Given the description of an element on the screen output the (x, y) to click on. 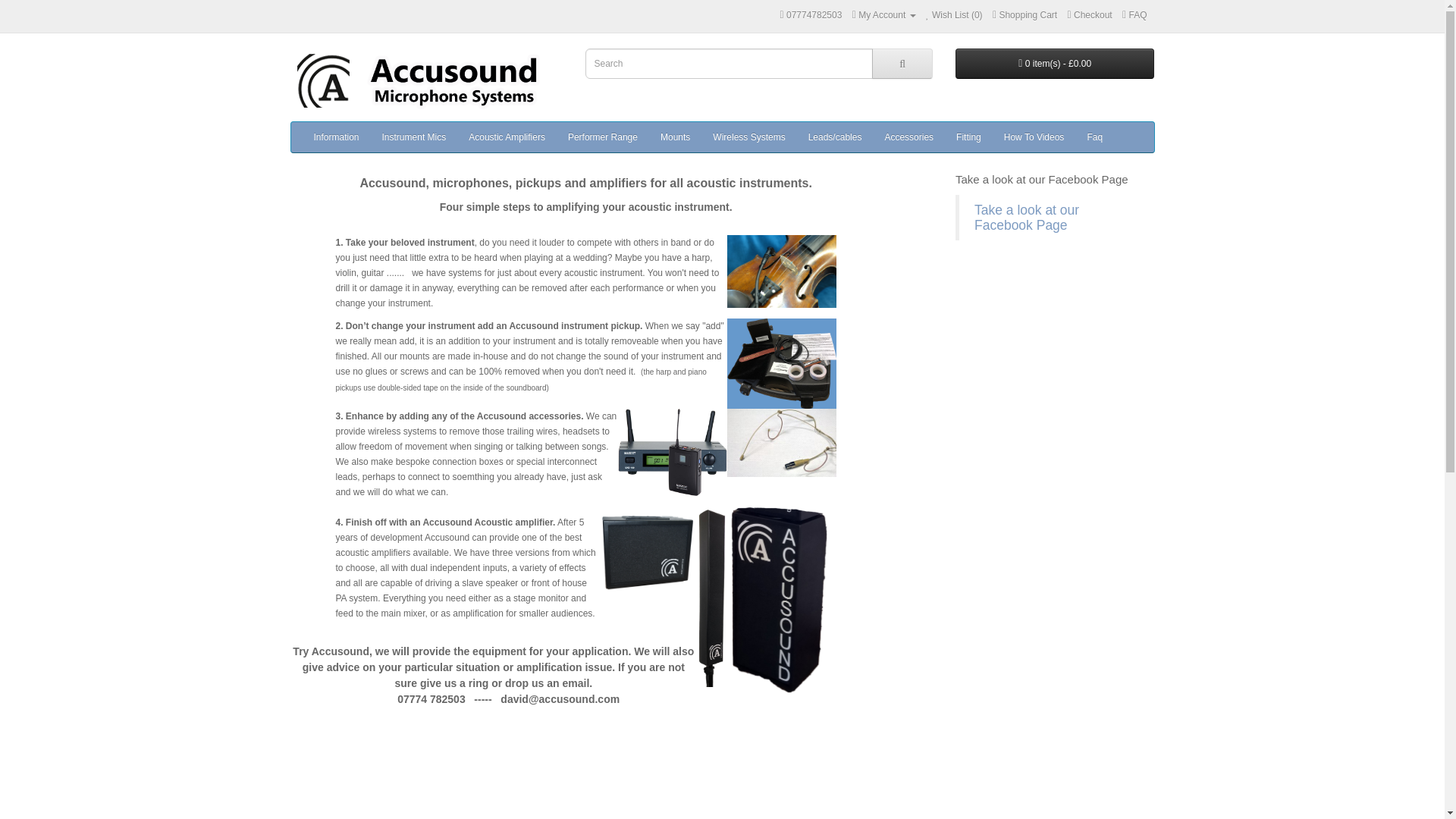
Shopping Cart (1024, 14)
My Account (883, 14)
Instrument Mics (414, 137)
FAQ (1134, 14)
Shopping Cart (1024, 14)
FAQ (1134, 14)
Information (335, 137)
Checkout (1089, 14)
Acoustic Amplifiers (506, 137)
Accusound (425, 80)
